Given the description of an element on the screen output the (x, y) to click on. 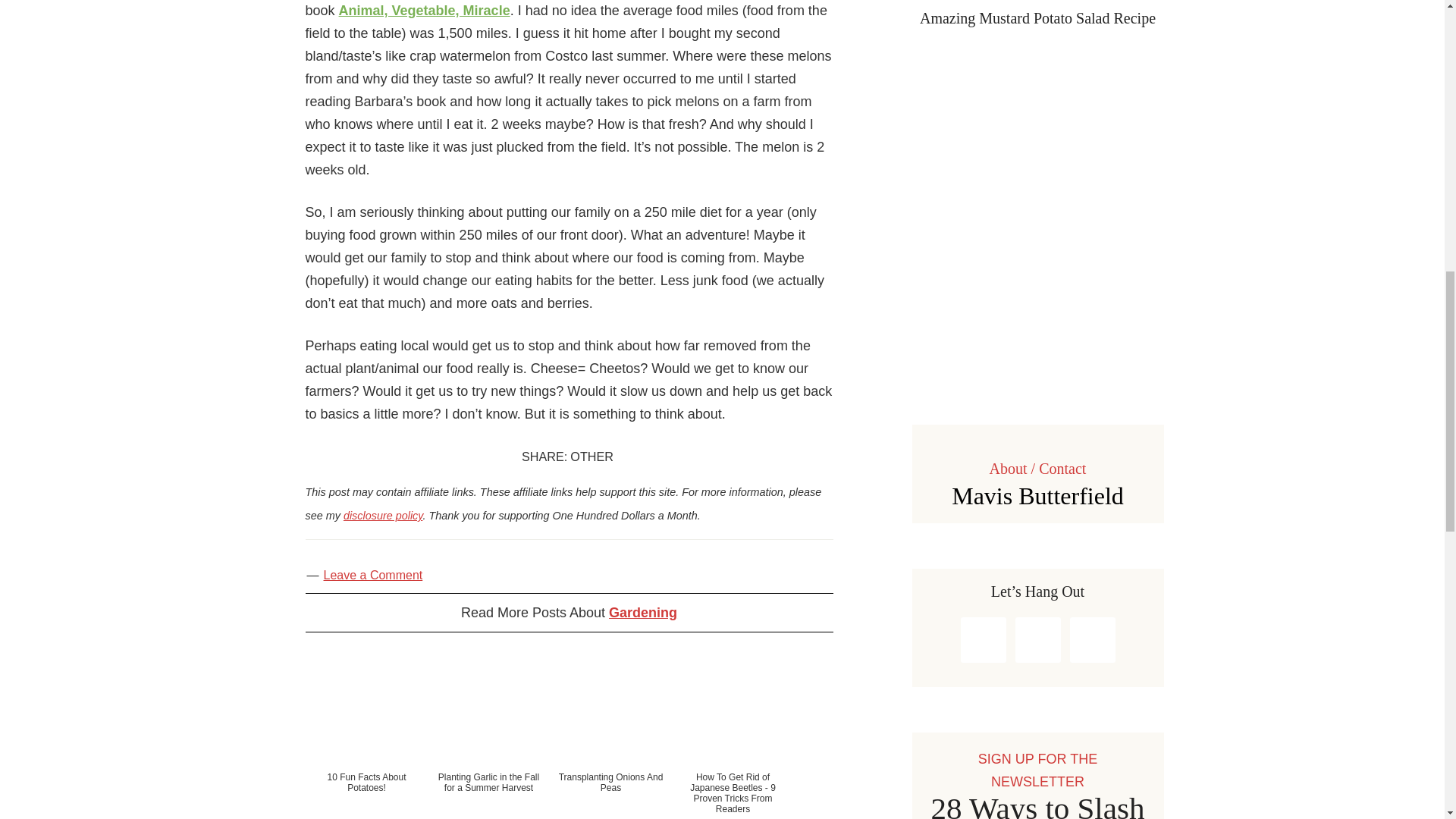
OTHER (591, 456)
Gardening (642, 612)
Leave a Comment (372, 574)
disclosure policy (383, 515)
Animal, Vegetable, Miracle (425, 10)
